Given the description of an element on the screen output the (x, y) to click on. 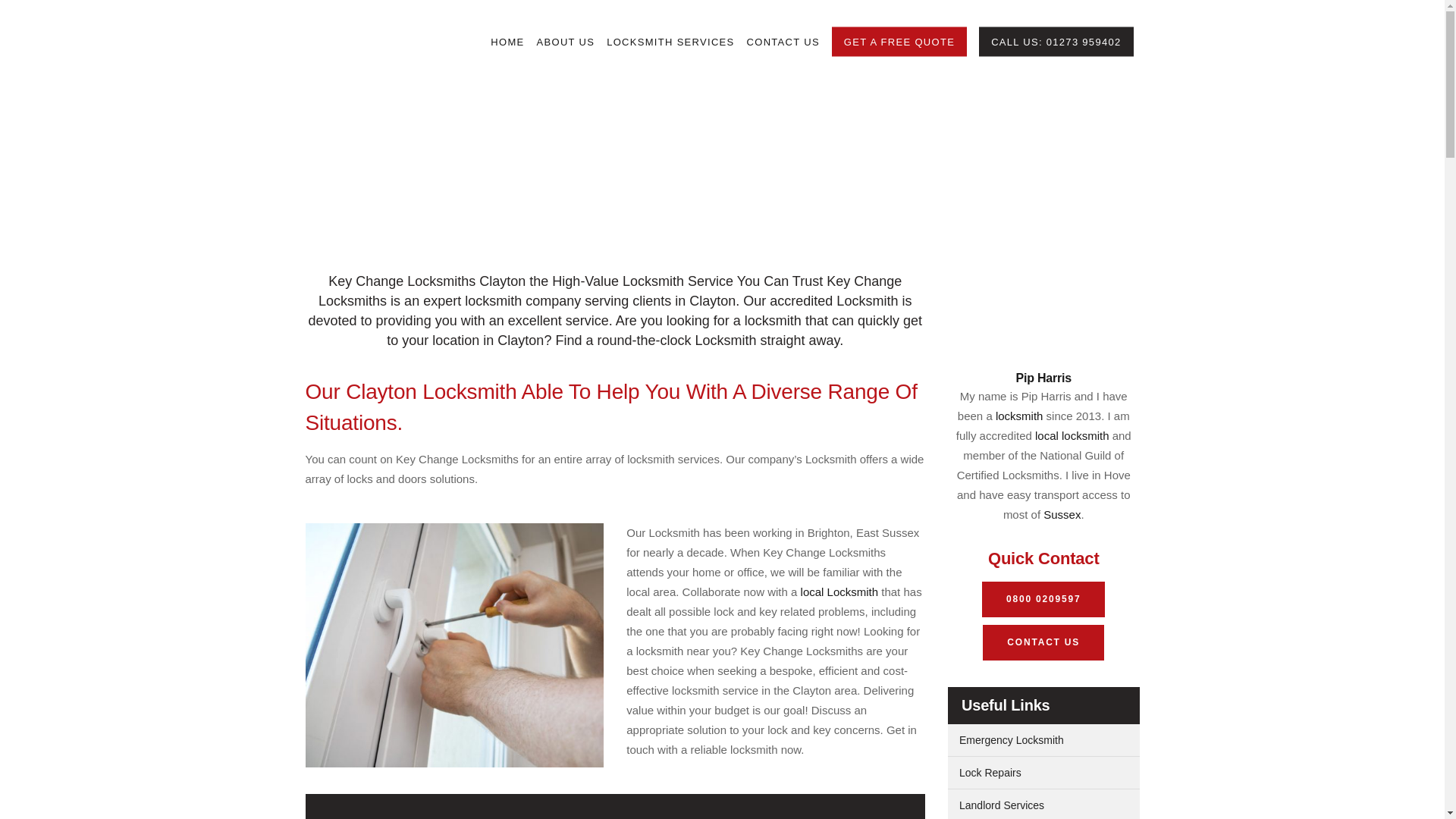
LOCKSMITH SERVICES (669, 41)
GET A FREE QUOTE (898, 41)
CONTACT US (783, 41)
Local Locksmith (839, 591)
CALL US: 01273 959402 (1055, 41)
